Given the description of an element on the screen output the (x, y) to click on. 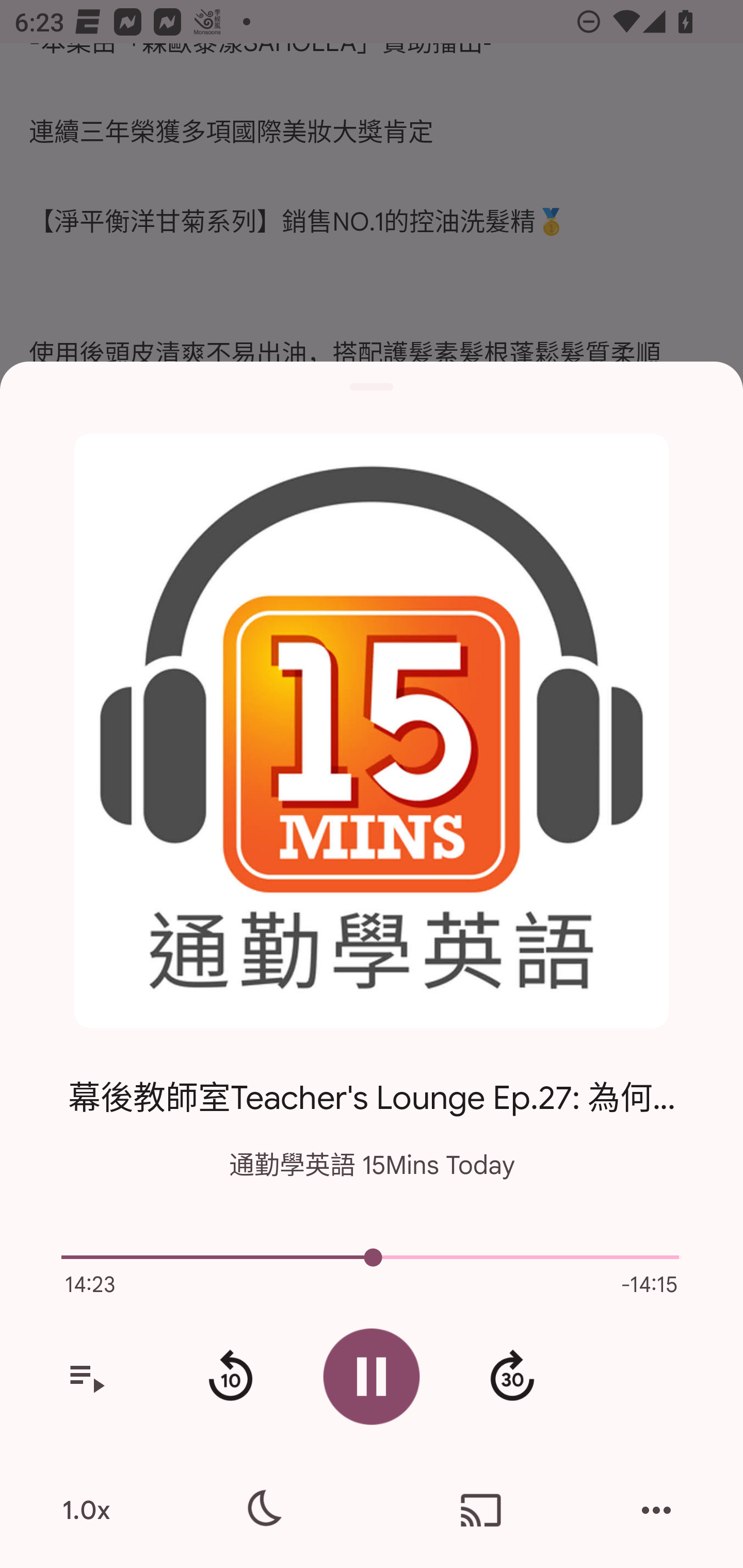
Open the show page for 通勤學英語 15Mins Today (371, 731)
5023.0 Current episode playback (371, 1257)
Pause (371, 1376)
View your queue (86, 1376)
Rewind 10 seconds (230, 1376)
Fast forward 30 second (511, 1376)
1.0x Playback speed is 1.0. (86, 1510)
Sleep timer settings (261, 1510)
Cast. Disconnected (480, 1510)
More actions (655, 1510)
